Given the description of an element on the screen output the (x, y) to click on. 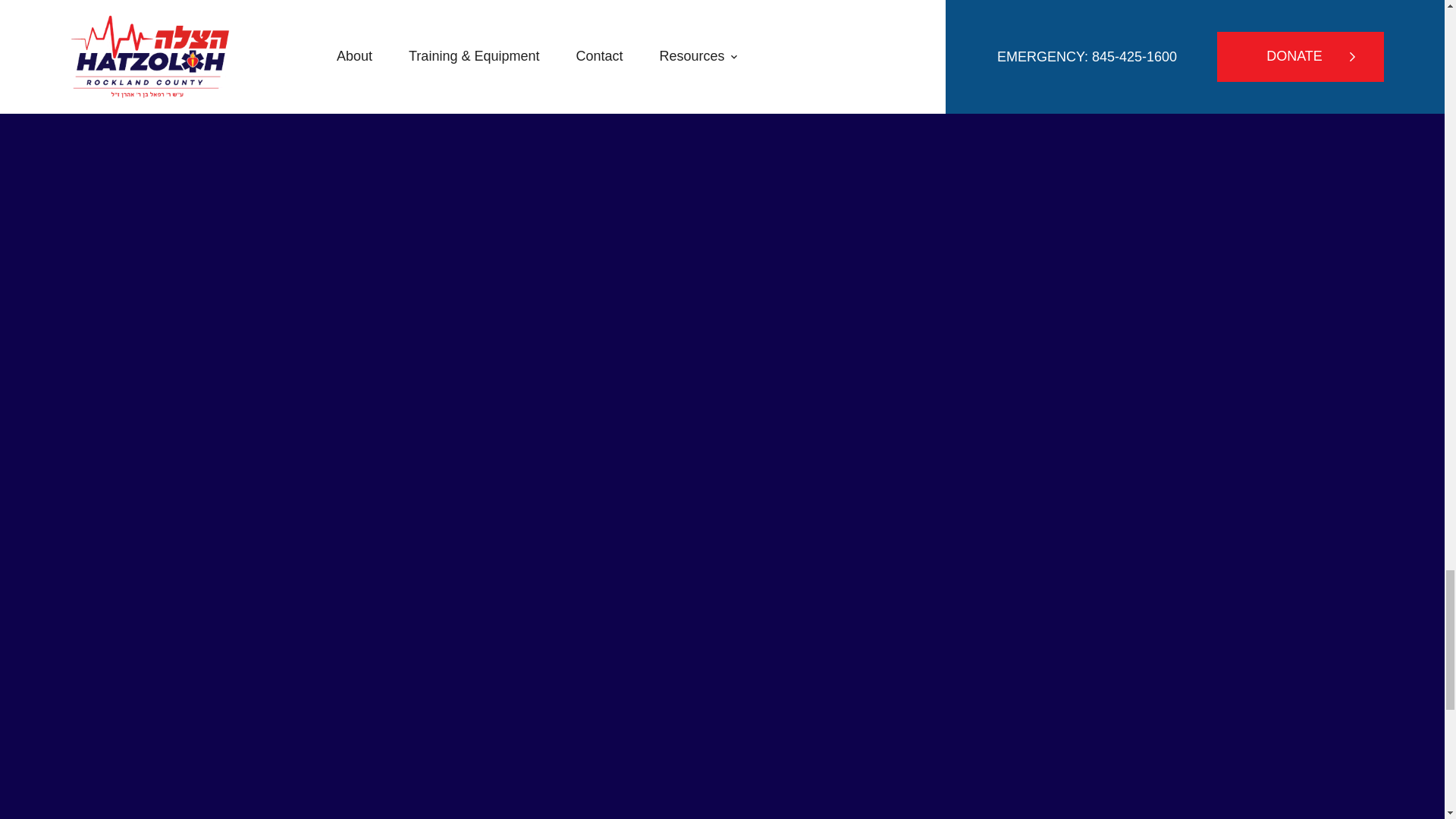
DONATE (727, 6)
